Given the description of an element on the screen output the (x, y) to click on. 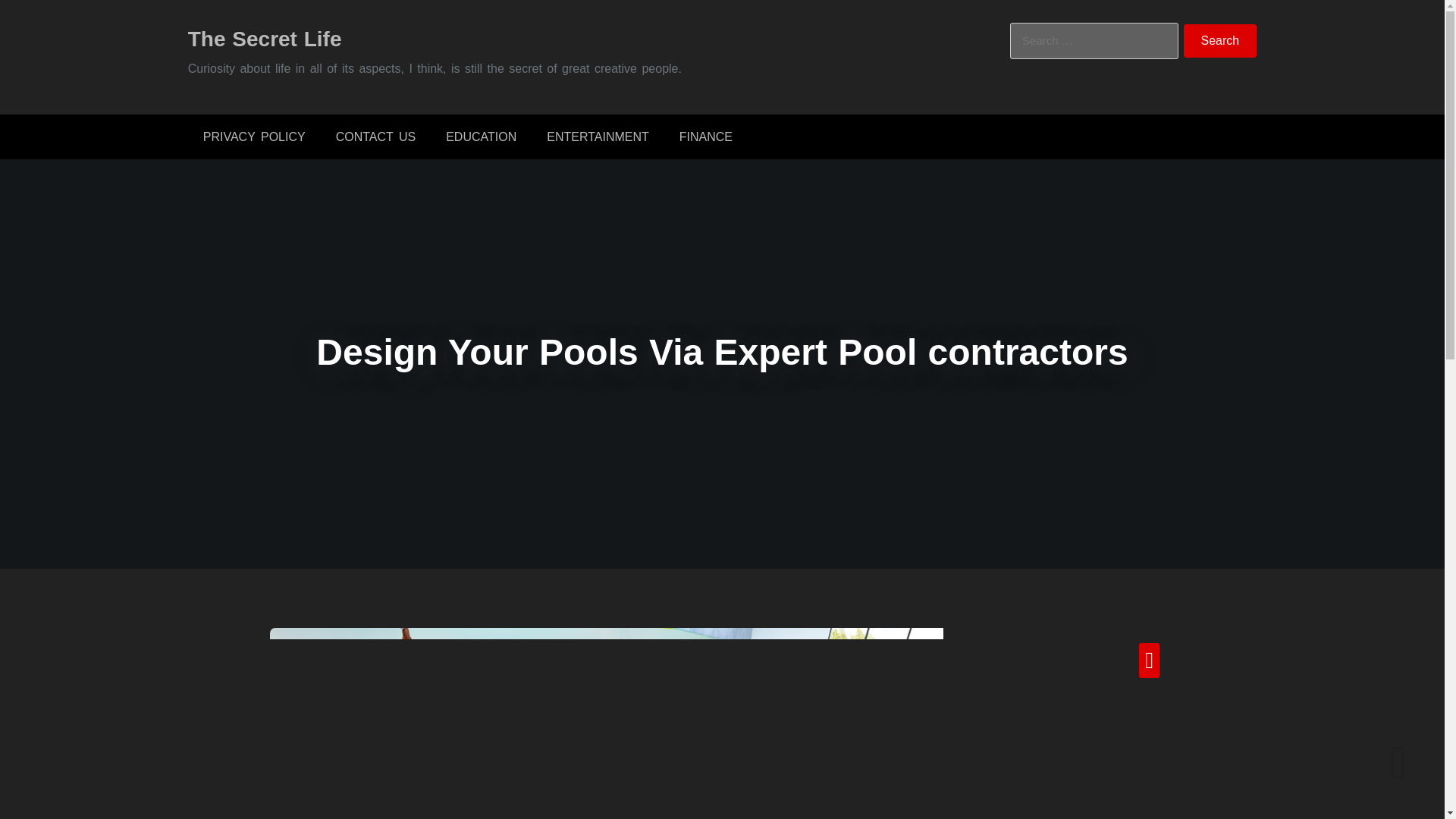
PRIVACY POLICY (253, 136)
The Secret Life (264, 38)
Search (1220, 40)
ENTERTAINMENT (597, 136)
CONTACT US (375, 136)
EDUCATION (480, 136)
Search (1220, 40)
FINANCE (705, 136)
Search (1220, 40)
